Given the description of an element on the screen output the (x, y) to click on. 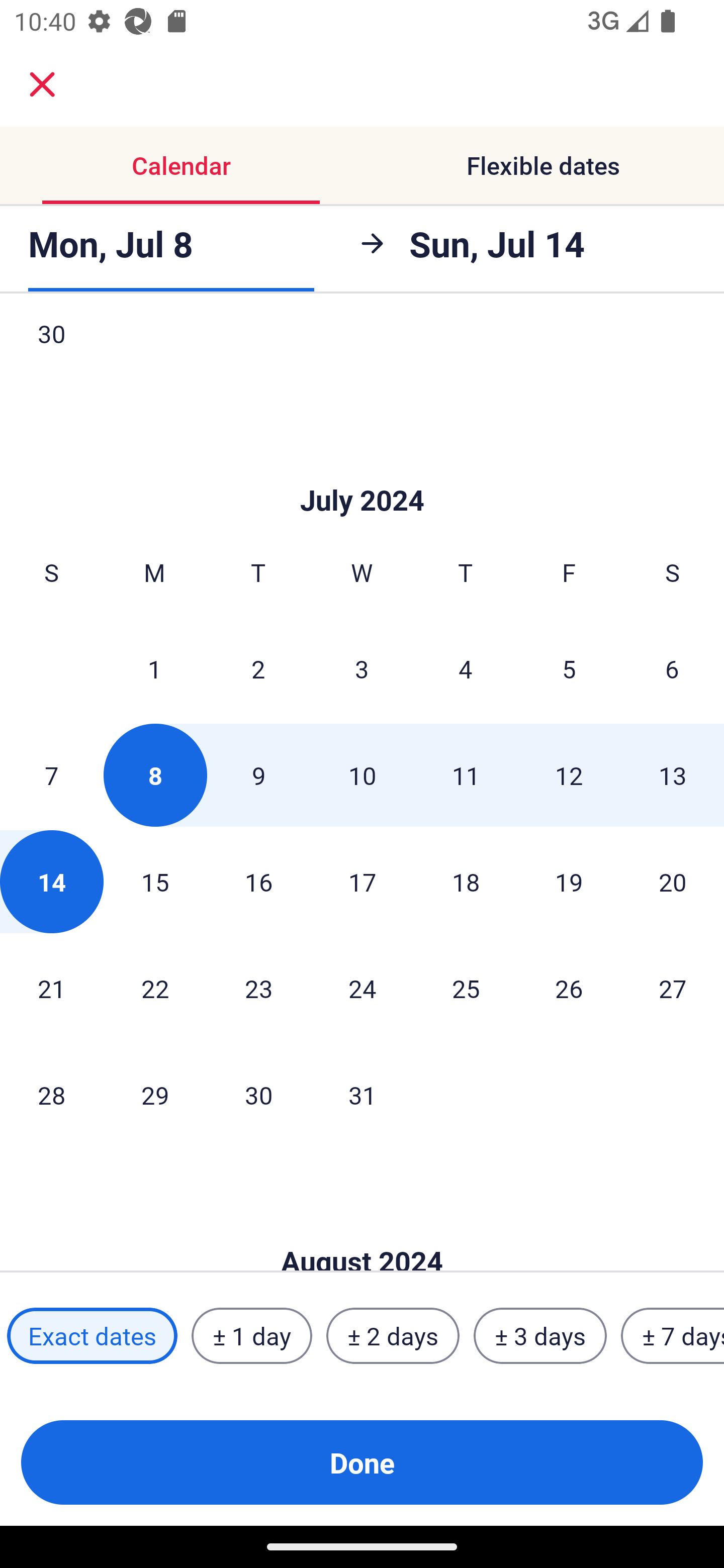
close. (42, 84)
Flexible dates (542, 164)
30 Sunday, June 30, 2024 (51, 353)
Skip to Done (362, 470)
1 Monday, July 1, 2024 (154, 668)
2 Tuesday, July 2, 2024 (257, 668)
3 Wednesday, July 3, 2024 (361, 668)
4 Thursday, July 4, 2024 (465, 668)
5 Friday, July 5, 2024 (568, 668)
6 Saturday, July 6, 2024 (672, 668)
7 Sunday, July 7, 2024 (51, 775)
15 Monday, July 15, 2024 (155, 880)
16 Tuesday, July 16, 2024 (258, 880)
17 Wednesday, July 17, 2024 (362, 880)
18 Thursday, July 18, 2024 (465, 880)
19 Friday, July 19, 2024 (569, 880)
20 Saturday, July 20, 2024 (672, 880)
21 Sunday, July 21, 2024 (51, 987)
22 Monday, July 22, 2024 (155, 987)
23 Tuesday, July 23, 2024 (258, 987)
24 Wednesday, July 24, 2024 (362, 987)
25 Thursday, July 25, 2024 (465, 987)
26 Friday, July 26, 2024 (569, 987)
27 Saturday, July 27, 2024 (672, 987)
28 Sunday, July 28, 2024 (51, 1094)
29 Monday, July 29, 2024 (155, 1094)
30 Tuesday, July 30, 2024 (258, 1094)
31 Wednesday, July 31, 2024 (362, 1094)
Skip to Done (362, 1230)
Exact dates (92, 1335)
± 1 day (251, 1335)
± 2 days (392, 1335)
± 3 days (539, 1335)
± 7 days (672, 1335)
Done (361, 1462)
